Given the description of an element on the screen output the (x, y) to click on. 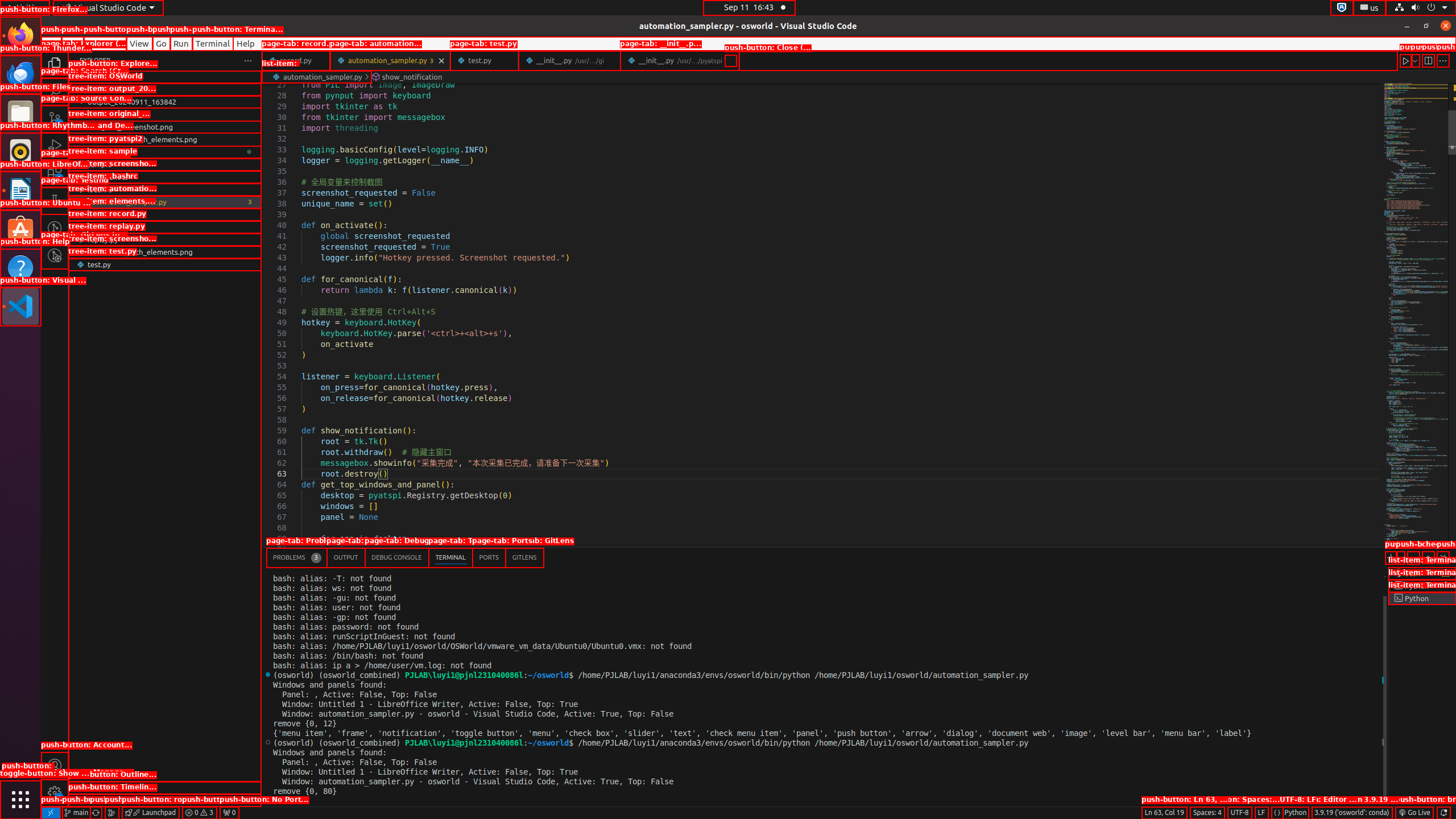
Outline Section Element type: push-button (164, 787)
Maximize Panel Size Element type: check-box (1427, 557)
New Terminal (Ctrl+Shift+`) [Alt] Split Terminal (Ctrl+Shift+5) Element type: push-button (1390, 557)
Close (Ctrl+W) Element type: push-button (730, 60)
